Given the description of an element on the screen output the (x, y) to click on. 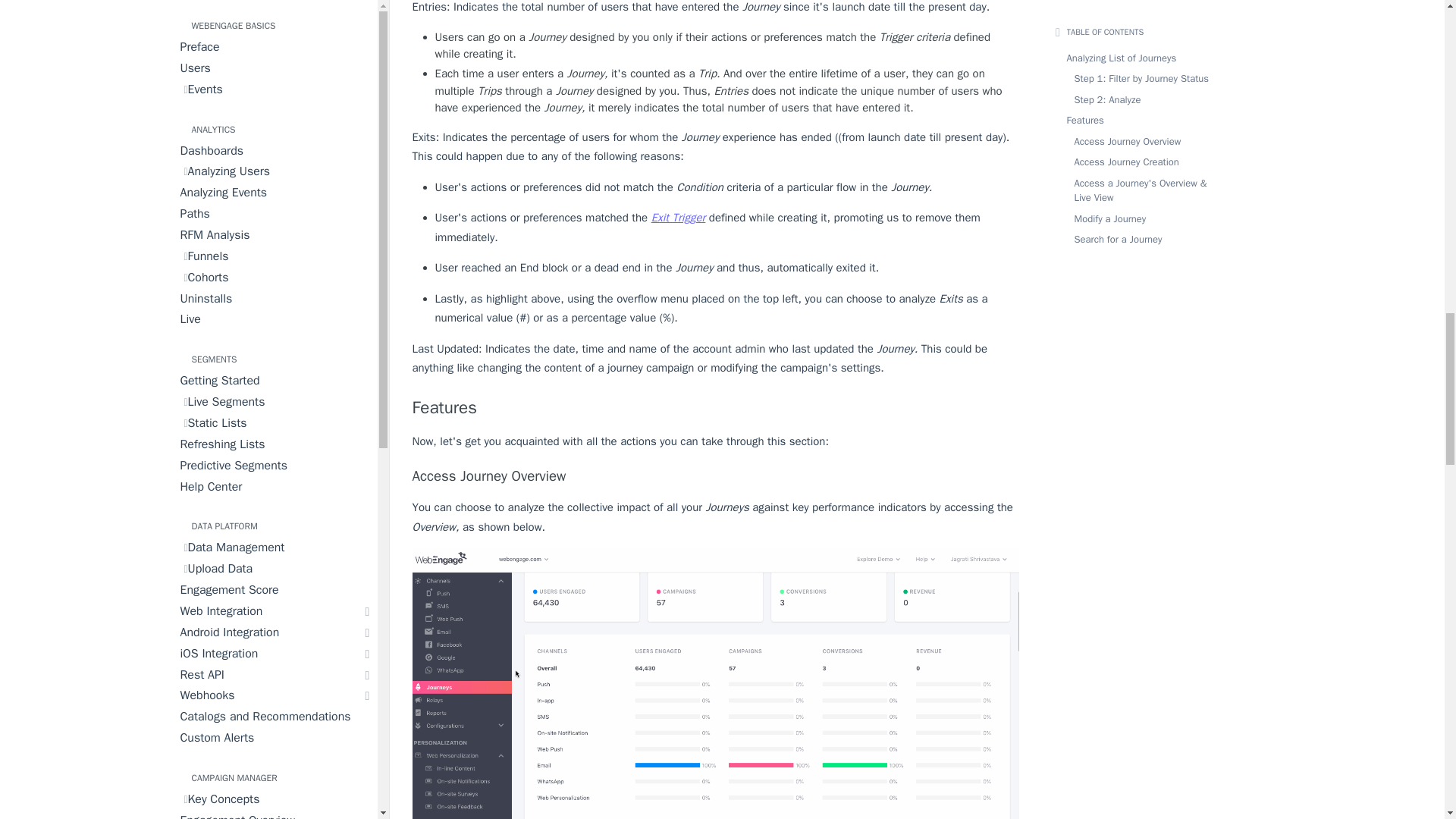
Access Journey Overview (715, 476)
Features (715, 407)
